Given the description of an element on the screen output the (x, y) to click on. 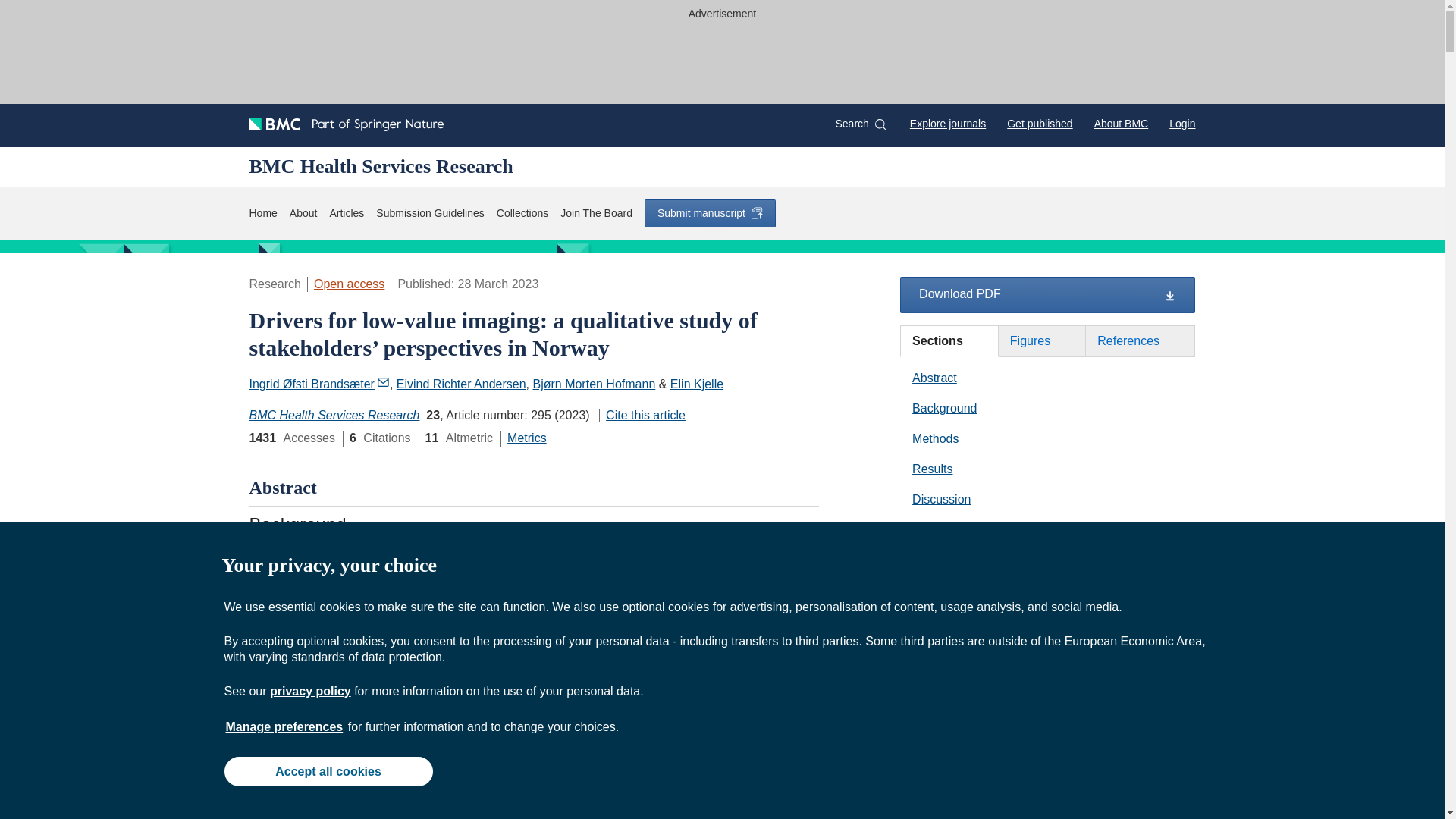
About BMC (1121, 123)
Login (1182, 123)
Submission Guidelines (429, 212)
Submit manuscript (710, 212)
Explore journals (947, 123)
About (303, 212)
BMC Health Services Research (333, 414)
Collections (522, 212)
Home (262, 212)
Manage preferences (284, 726)
Open access (349, 283)
Cite this article (641, 414)
Accept all cookies (328, 771)
Get published (1039, 123)
